Given the description of an element on the screen output the (x, y) to click on. 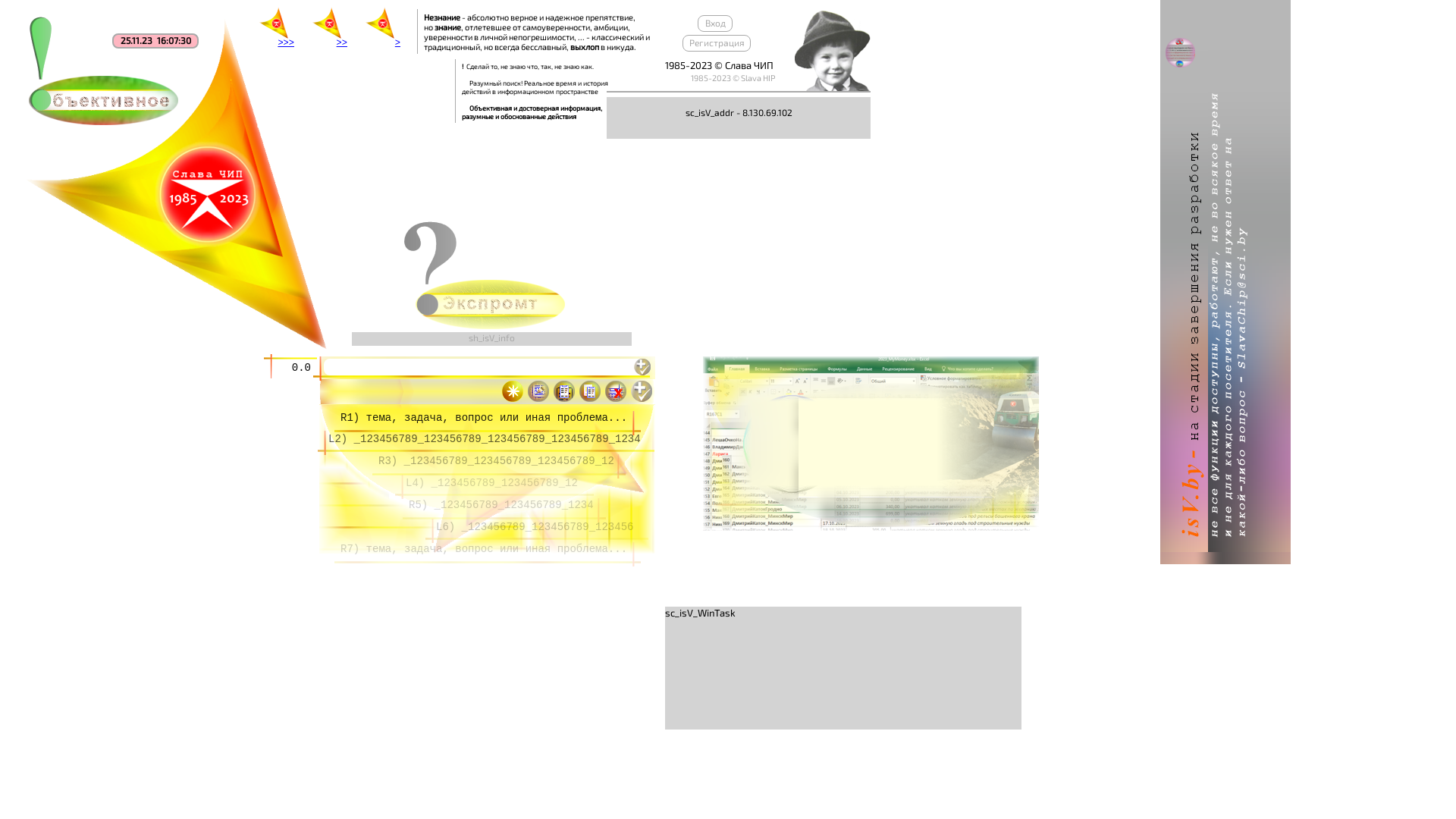
>> Element type: text (328, 30)
>> Element type: text (341, 58)
> Element type: text (397, 58)
>>> Element type: text (285, 58)
>>> Element type: text (275, 30)
> Element type: text (382, 30)
